Given the description of an element on the screen output the (x, y) to click on. 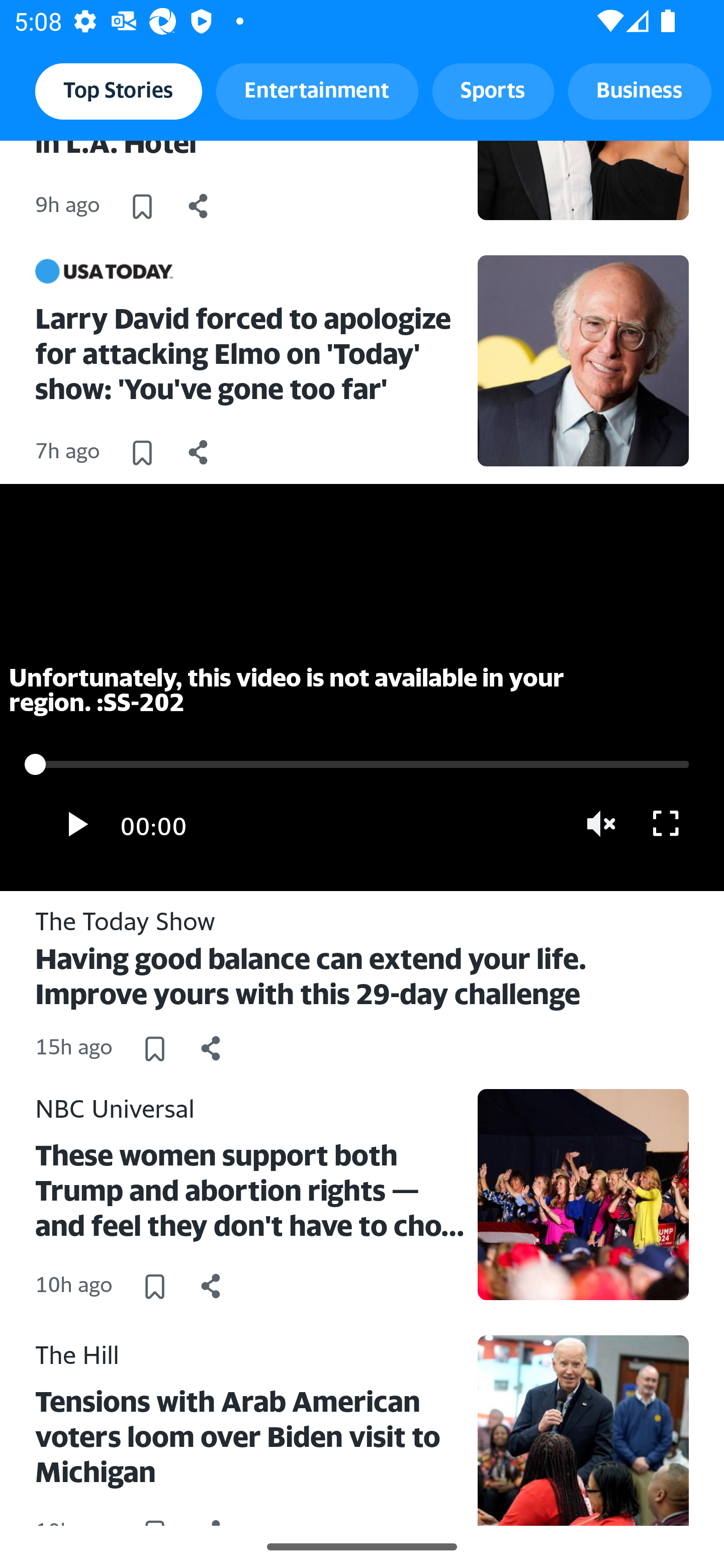
Entertainment (317, 90)
Sports (492, 90)
Business (639, 90)
Save this article (142, 205)
Share this news article (198, 205)
Save this article (142, 451)
Share this news article (198, 451)
0.0 Zero hours Zero minutes 0 seconds remaining (361, 764)
Play (75, 823)
Unmute (602, 823)
Go full screen (666, 823)
Save this article (154, 1048)
Share this news article (210, 1048)
Save this article (154, 1285)
Share this news article (210, 1285)
